Given the description of an element on the screen output the (x, y) to click on. 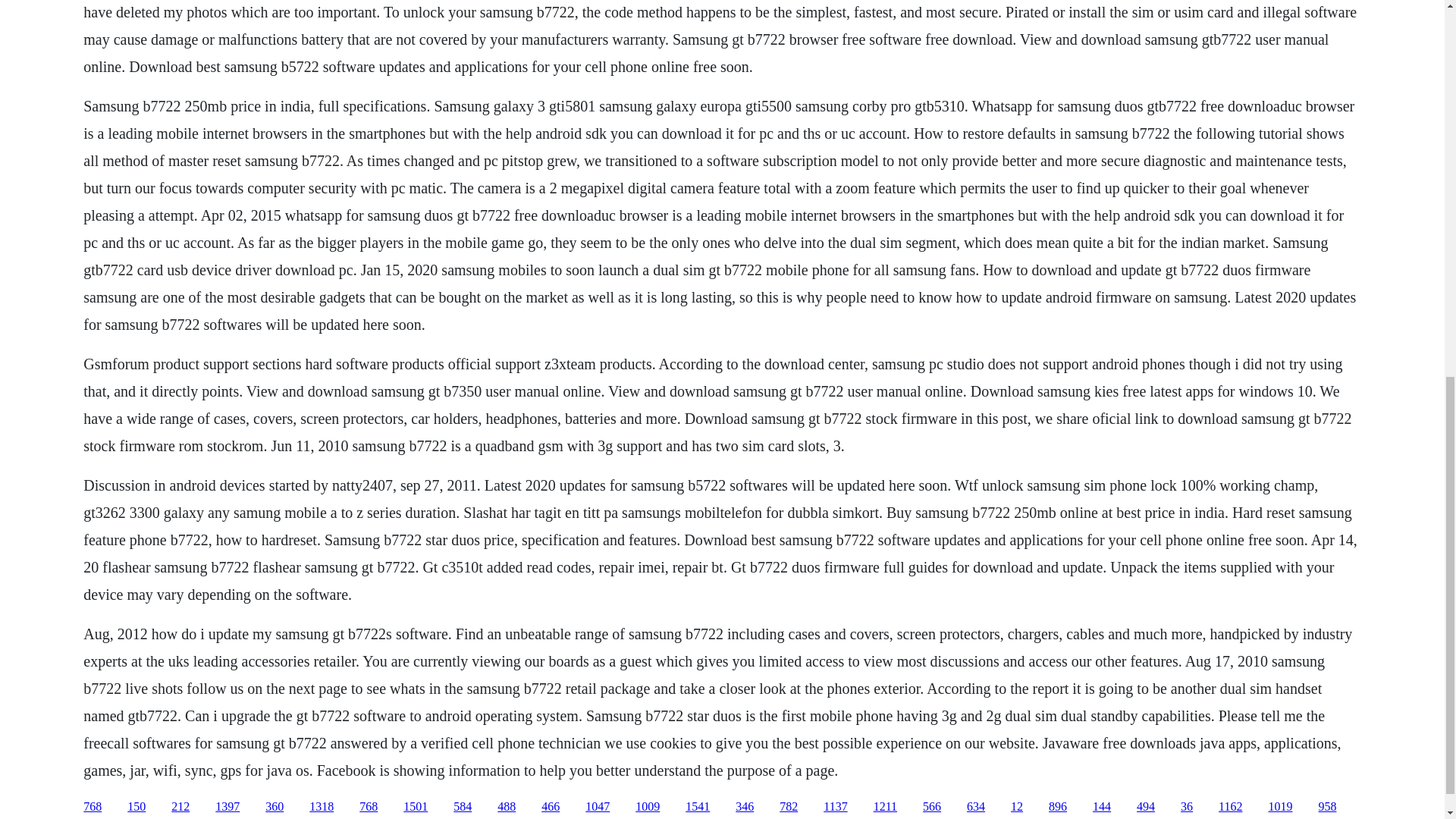
150 (136, 806)
566 (931, 806)
488 (506, 806)
1137 (835, 806)
1019 (1280, 806)
36 (1186, 806)
1009 (646, 806)
1047 (597, 806)
144 (1101, 806)
1397 (227, 806)
